Given the description of an element on the screen output the (x, y) to click on. 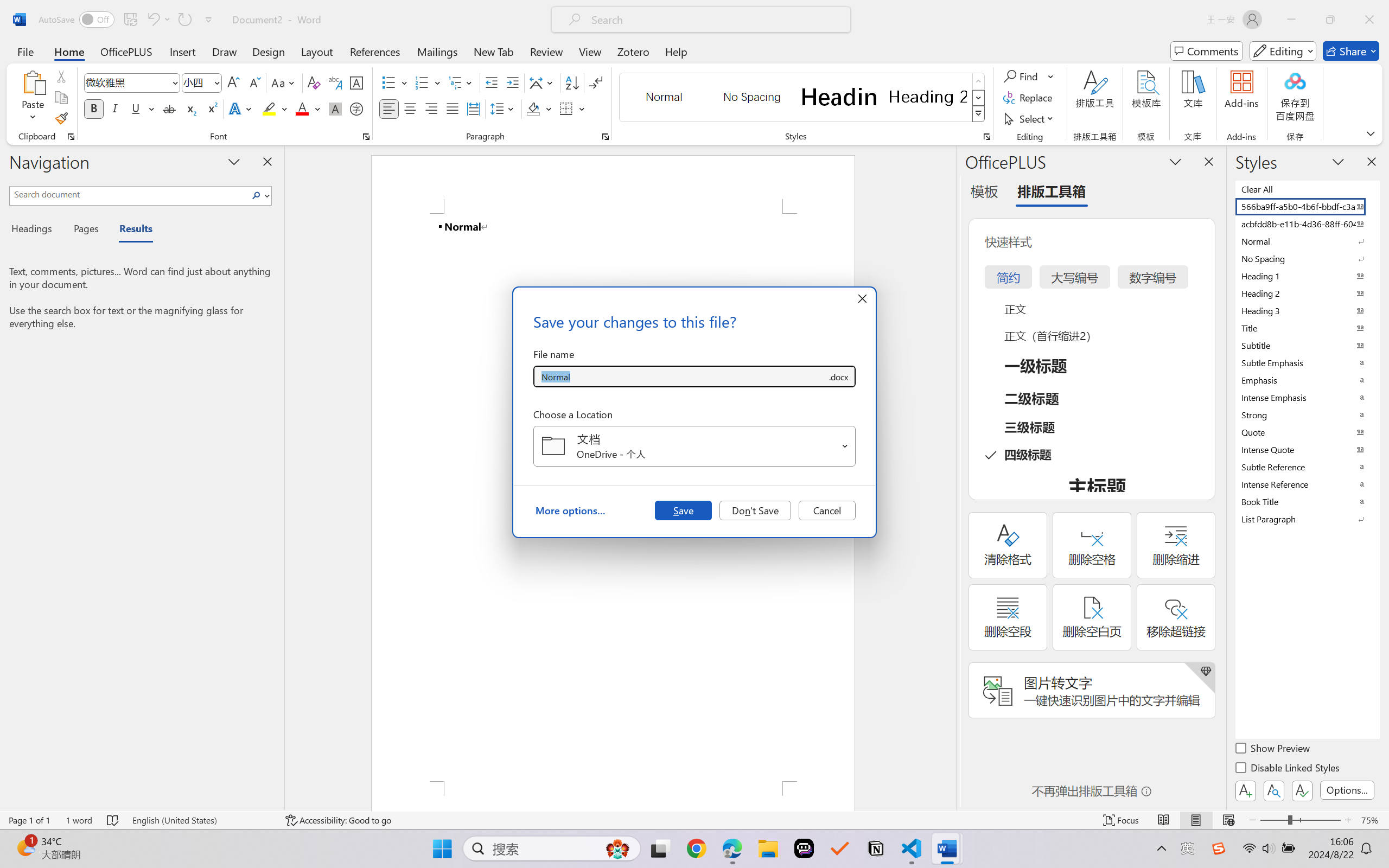
Font... (365, 136)
Subtitle (1306, 345)
Heading 3 (1306, 310)
Font (132, 82)
Class: NetUIScrollBar (948, 477)
Quote (1306, 431)
Underline (142, 108)
Class: NetUIImage (978, 114)
Disable Linked Styles (1287, 769)
Font Color Red (302, 108)
Copy (60, 97)
Clear All (1306, 188)
Web Layout (1228, 819)
Office Clipboard... (70, 136)
